Given the description of an element on the screen output the (x, y) to click on. 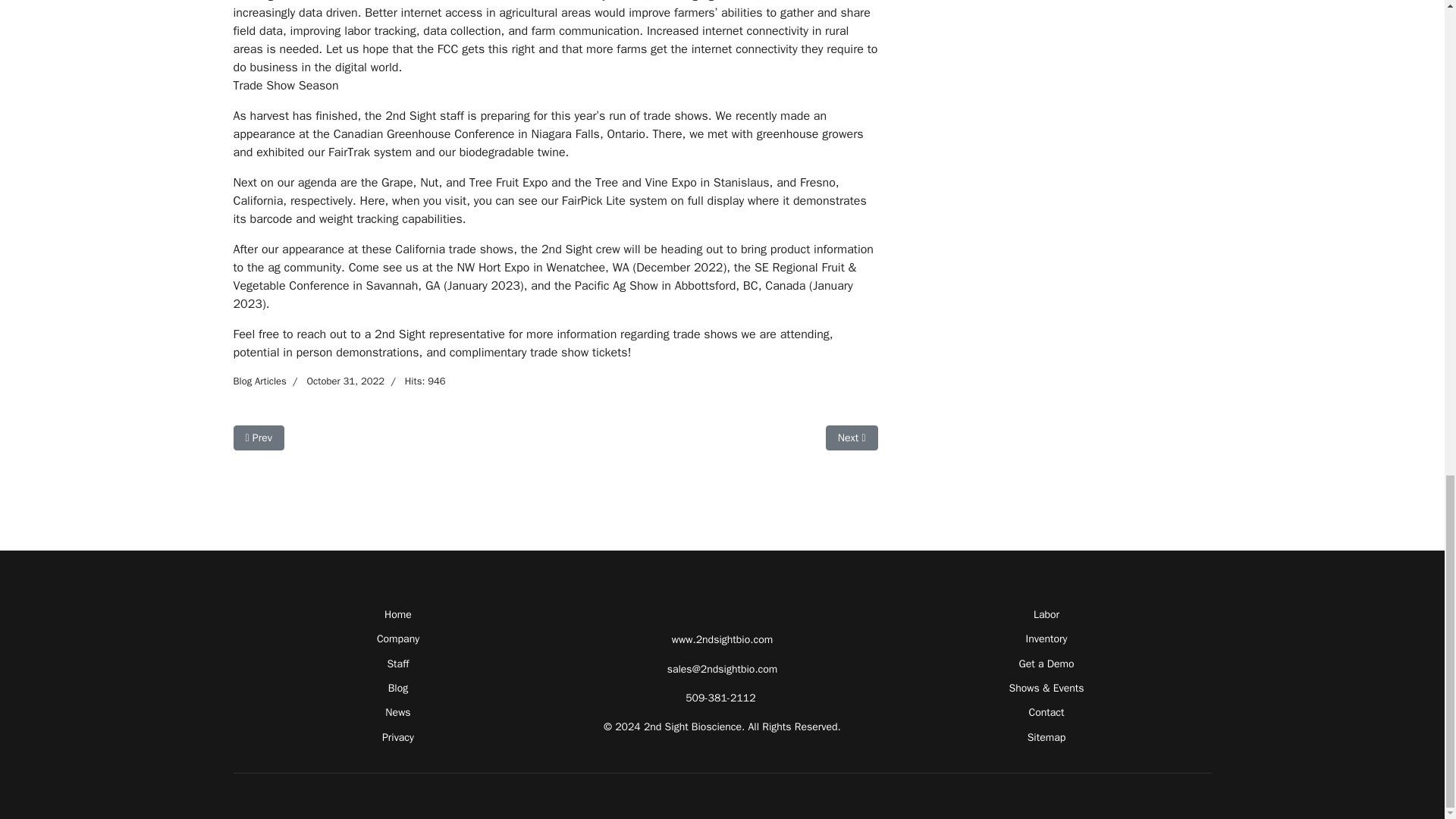
Category: Blog Articles (851, 437)
Blog Articles (259, 381)
Published: October 31, 2022 (259, 380)
